Given the description of an element on the screen output the (x, y) to click on. 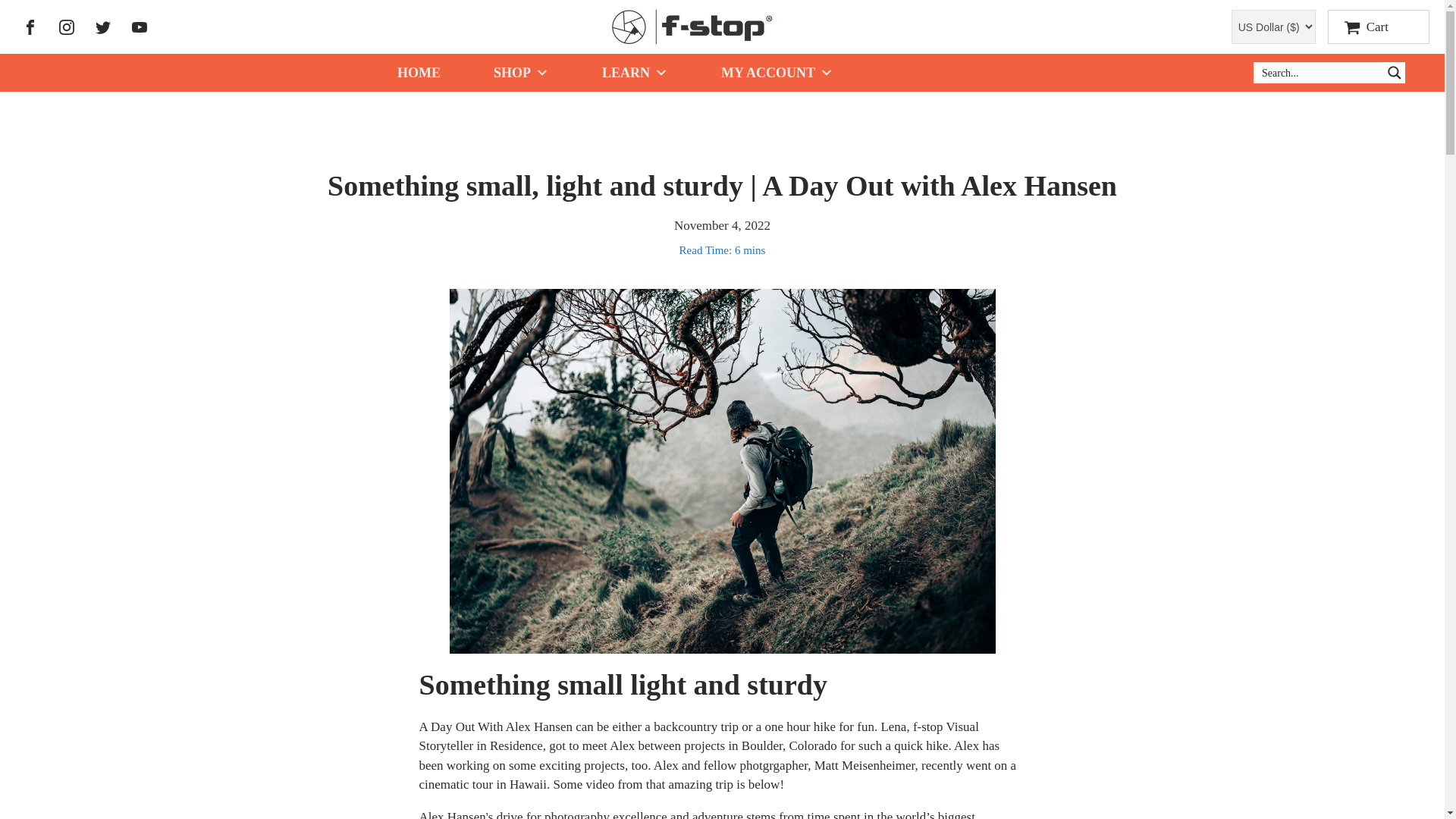
SHOP (521, 72)
HOME (419, 72)
Cart (1378, 26)
